Given the description of an element on the screen output the (x, y) to click on. 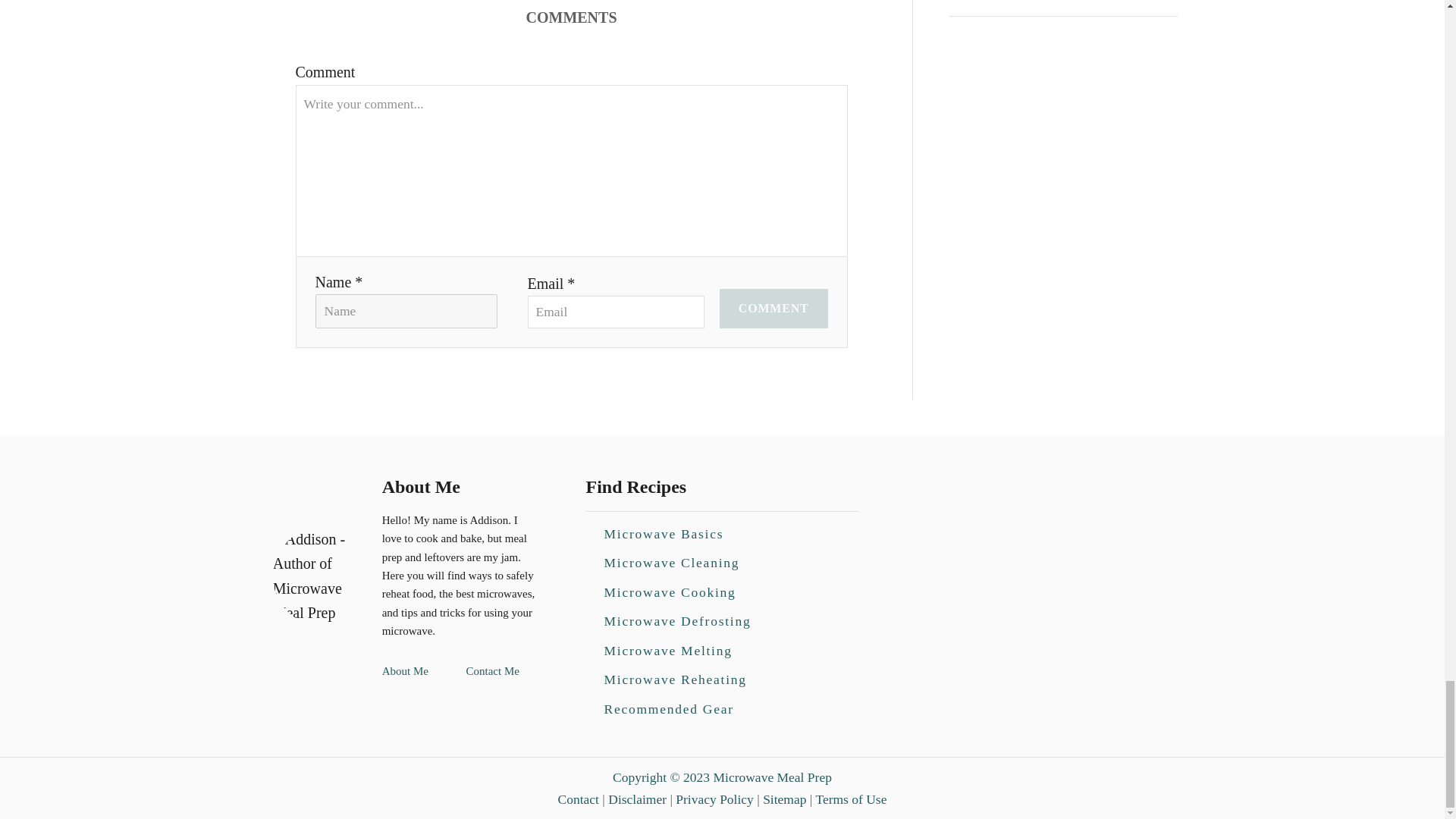
Contact (577, 798)
Microwave Reheating (674, 679)
Privacy Policy (714, 798)
Microwave Melting (667, 650)
Terms of Use (850, 798)
Disclaimer (637, 798)
COMMENT (773, 308)
Microwave Cleaning (671, 562)
Microwave Basics (663, 533)
Recommended Gear (668, 708)
